Given the description of an element on the screen output the (x, y) to click on. 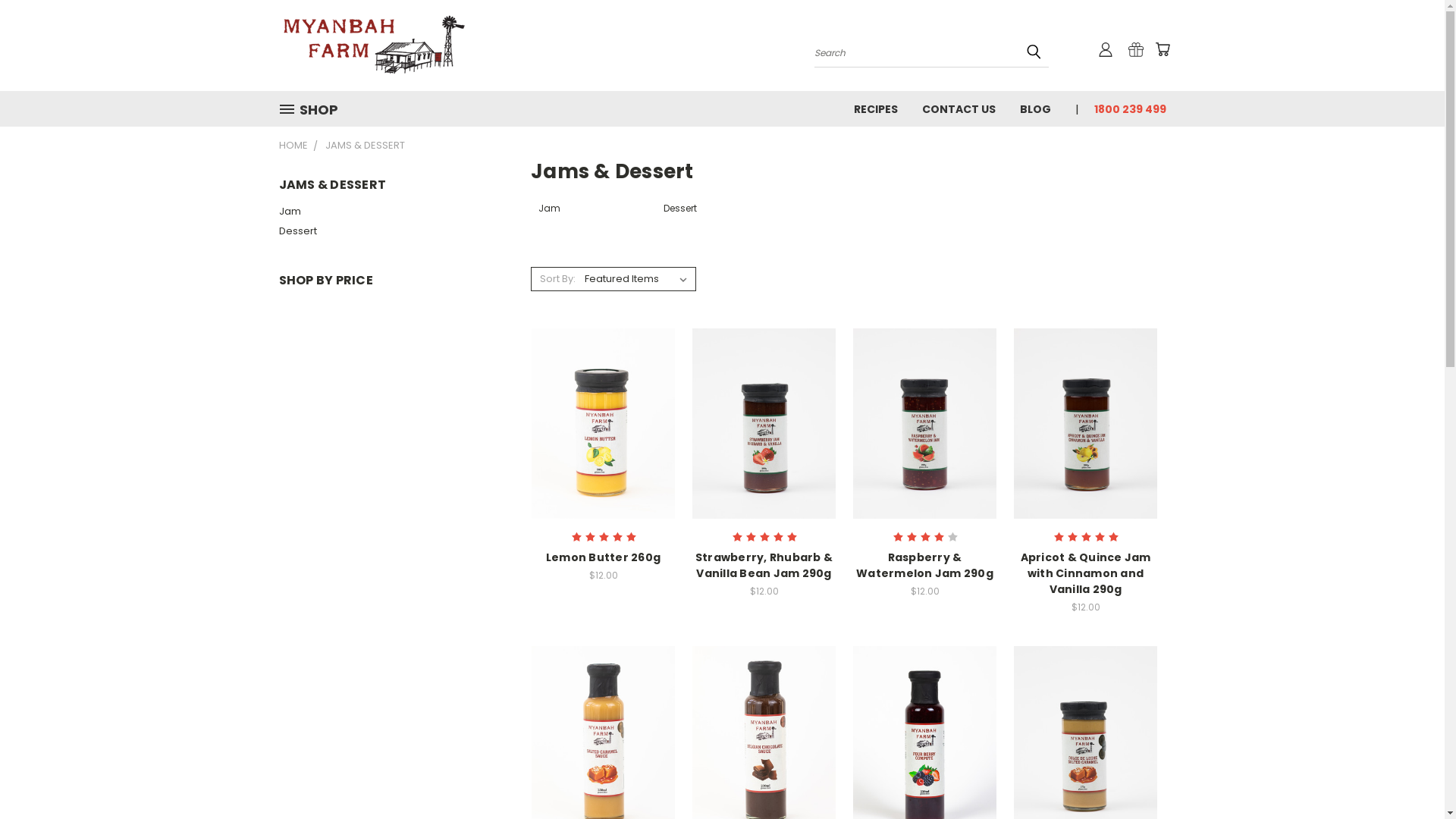
submit Element type: hover (1033, 51)
SHOP Element type: text (314, 109)
Apricot & Quince Jam with Cinnamon and Vanilla 290g Element type: text (1085, 572)
Strawberry, Rhubarb & Vanilla Bean Jam 290g Element type: text (763, 564)
Raspberry & Watermelon Jam 290g Element type: hover (924, 422)
CONTACT US Element type: text (958, 108)
Myanbah Farm Element type: hover (373, 45)
Dessert Element type: text (718, 216)
Strawberry, Rhubarb & Vanilla Bean Jam 290g Element type: hover (763, 422)
Lemon Butter 260g Element type: text (603, 556)
BLOG Element type: text (1034, 108)
Dessert Element type: text (385, 231)
HOME Element type: text (293, 145)
Raspberry & Watermelon Jam 290g Element type: text (924, 564)
Jam Element type: text (385, 211)
RECIPES Element type: text (875, 108)
1800 239 499 Element type: text (1123, 108)
Lemon Butter 260g Element type: hover (602, 422)
Apricot & Quince Jam with Cinnamon and Vanilla 290g Element type: hover (1085, 422)
Jam Element type: text (593, 216)
